Given the description of an element on the screen output the (x, y) to click on. 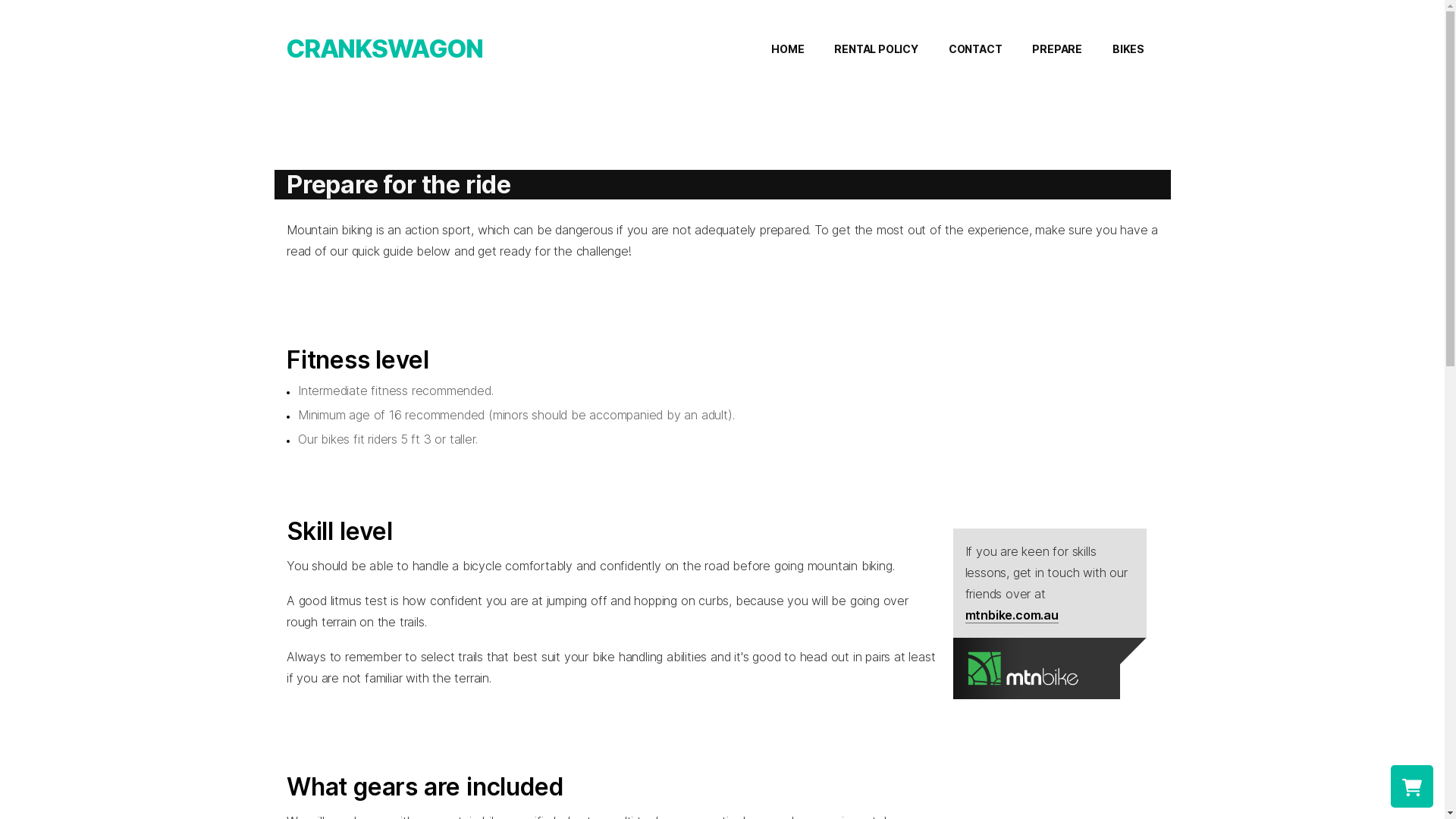
PREPARE Element type: text (1056, 49)
CRANKSWAGON Element type: text (383, 48)
BIKES Element type: text (1127, 49)
mtnbike.com.au Element type: text (1010, 615)
HOME Element type: text (787, 49)
CONTACT Element type: text (974, 49)
RENTAL POLICY Element type: text (875, 49)
